Given the description of an element on the screen output the (x, y) to click on. 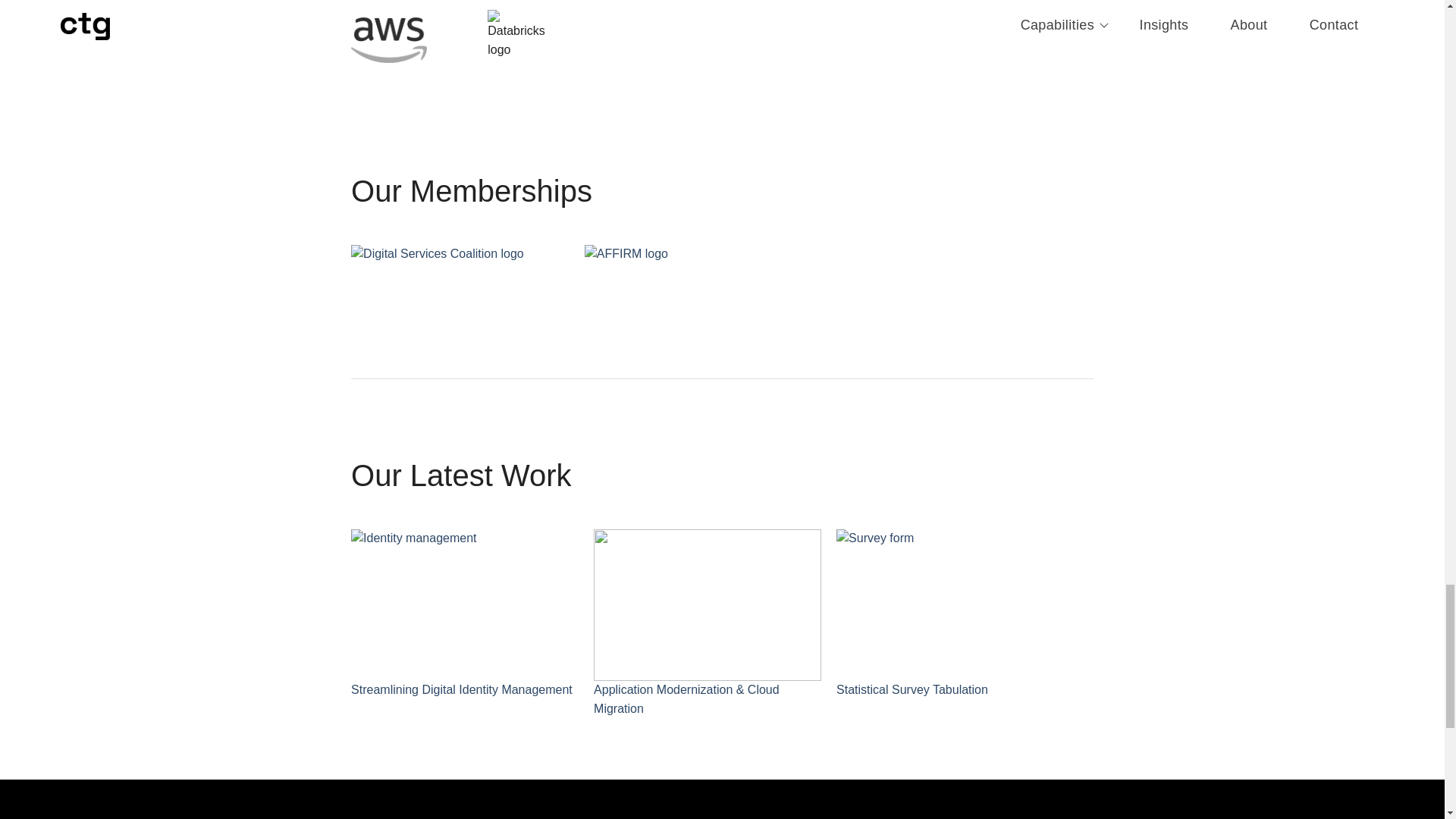
Streamlining Digital Identity Management (464, 614)
Statistical Survey Tabulation (949, 614)
